Given the description of an element on the screen output the (x, y) to click on. 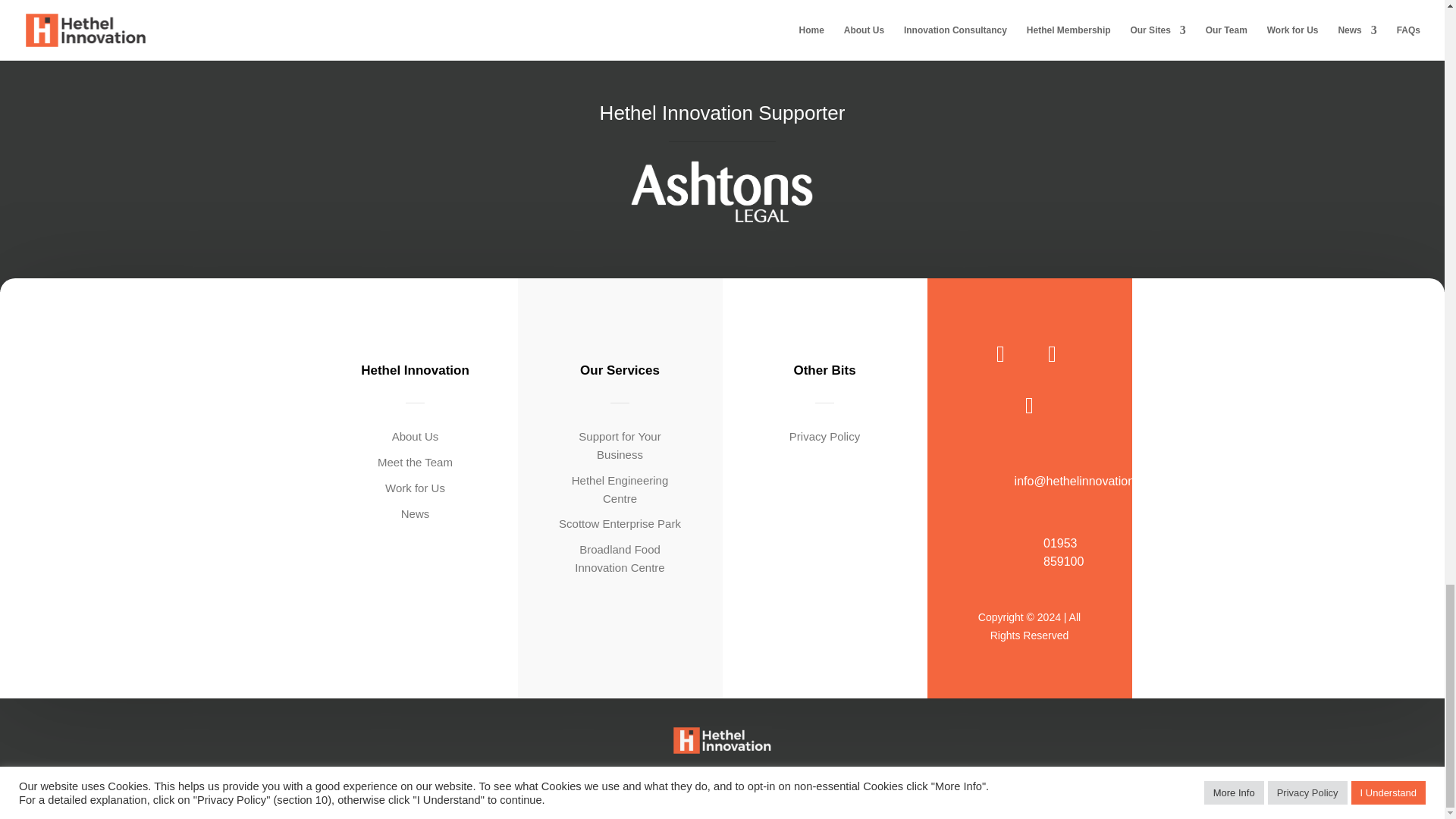
Follow on LinkedIn (1029, 405)
Follow on X (1000, 353)
HIL Logo Orange-White (721, 740)
Follow on Instagram (1052, 353)
White large (721, 191)
